Given the description of an element on the screen output the (x, y) to click on. 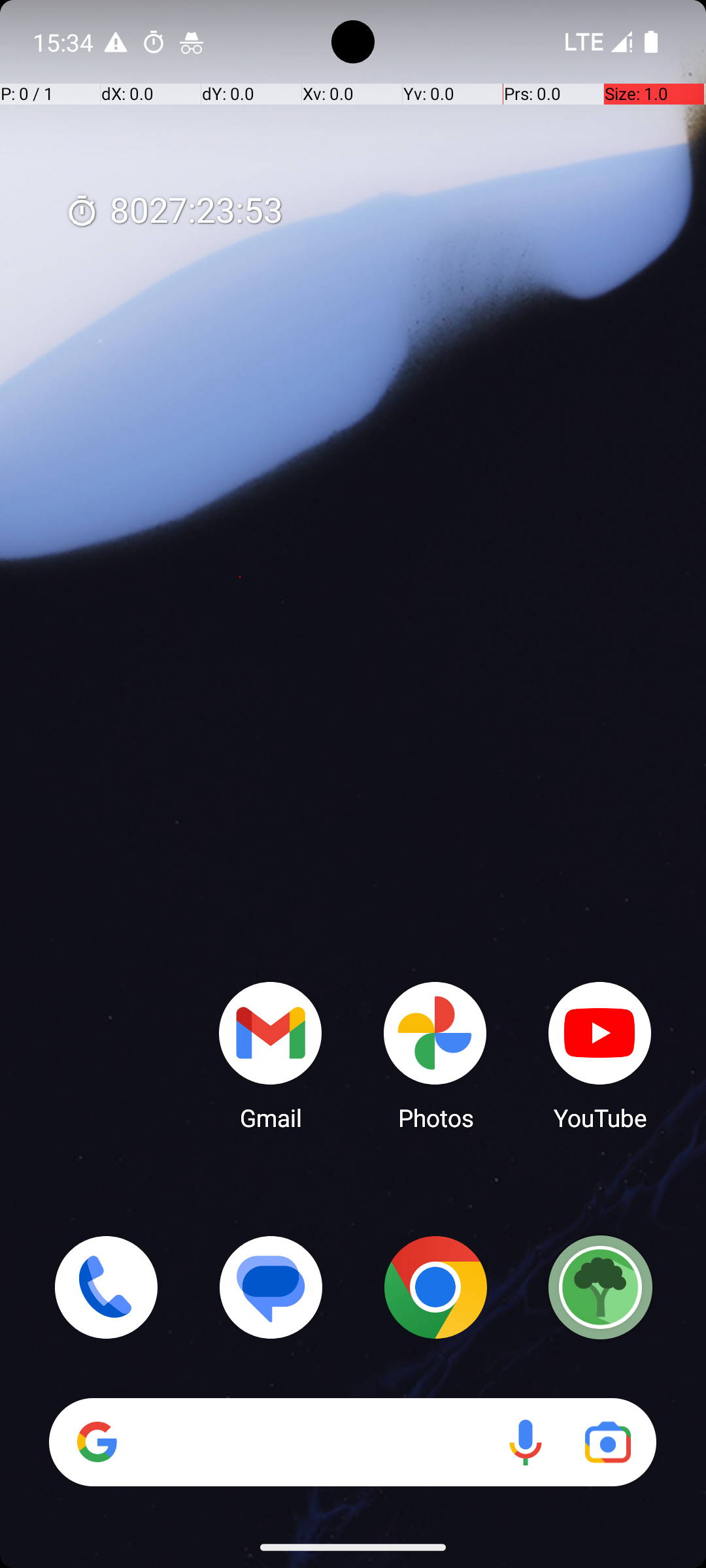
8027:23:53 Element type: android.widget.TextView (173, 210)
